Given the description of an element on the screen output the (x, y) to click on. 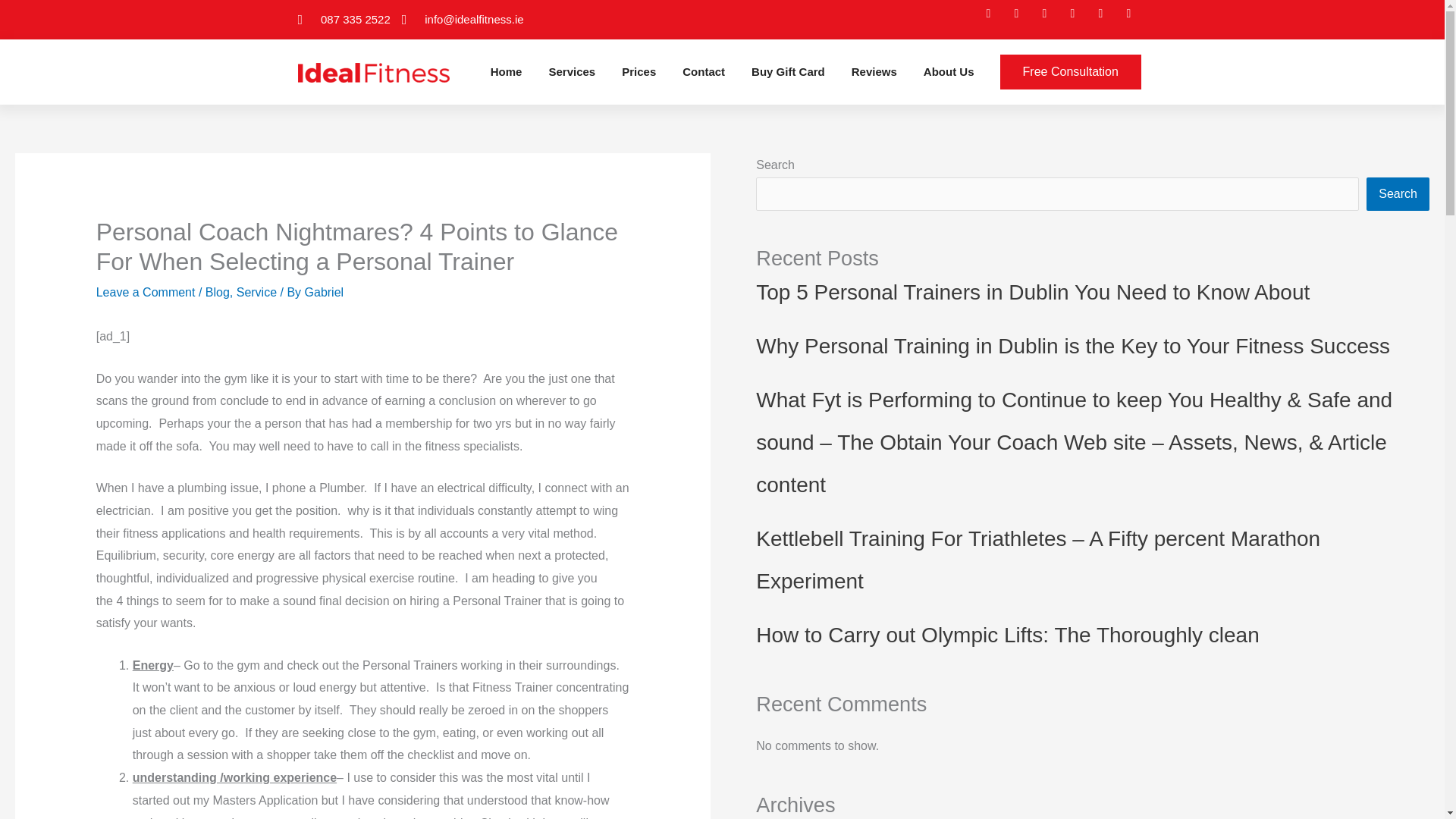
Services (571, 71)
Home (506, 71)
Prices (638, 71)
View all posts by Gabriel (323, 291)
087 335 2522 (343, 19)
Buy Gift Card (788, 71)
About Us (948, 71)
Reviews (873, 71)
Contact (703, 71)
